Given the description of an element on the screen output the (x, y) to click on. 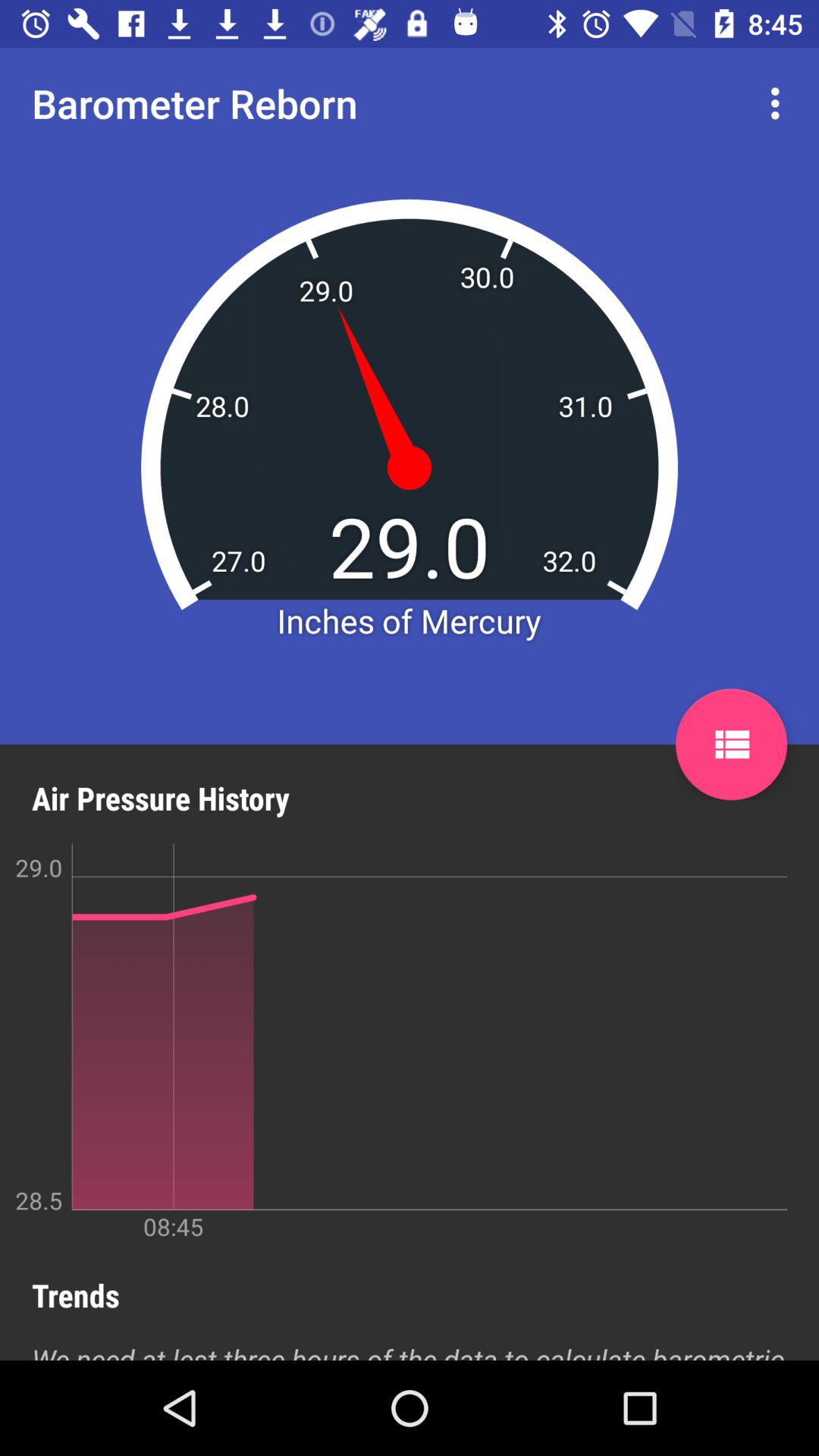
tap the icon above the trends icon (393, 1042)
